Given the description of an element on the screen output the (x, y) to click on. 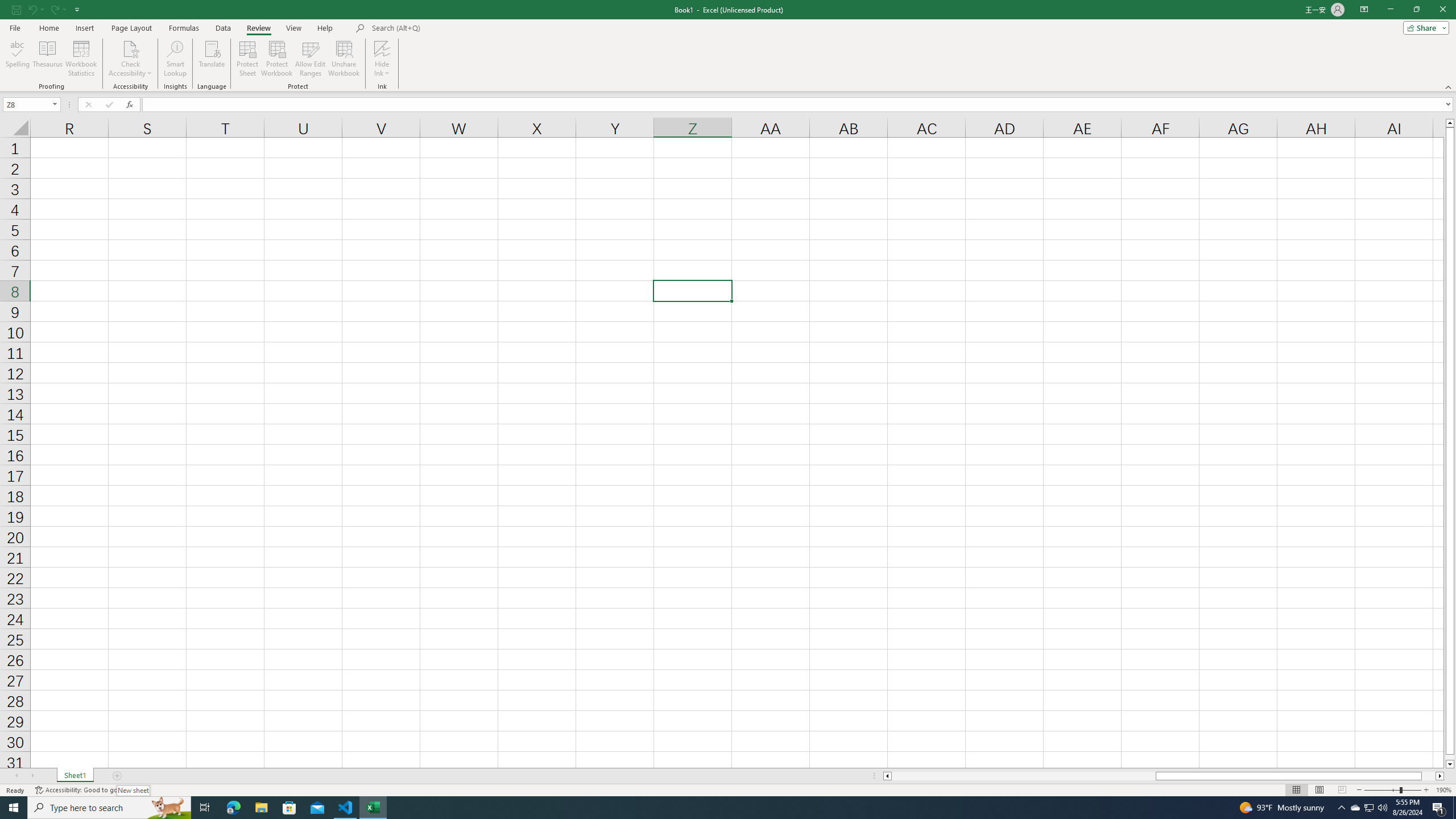
Allow Edit Ranges (310, 58)
Translate (211, 58)
Unshare Workbook (344, 58)
Hide Ink (381, 48)
Page left (1023, 775)
